Given the description of an element on the screen output the (x, y) to click on. 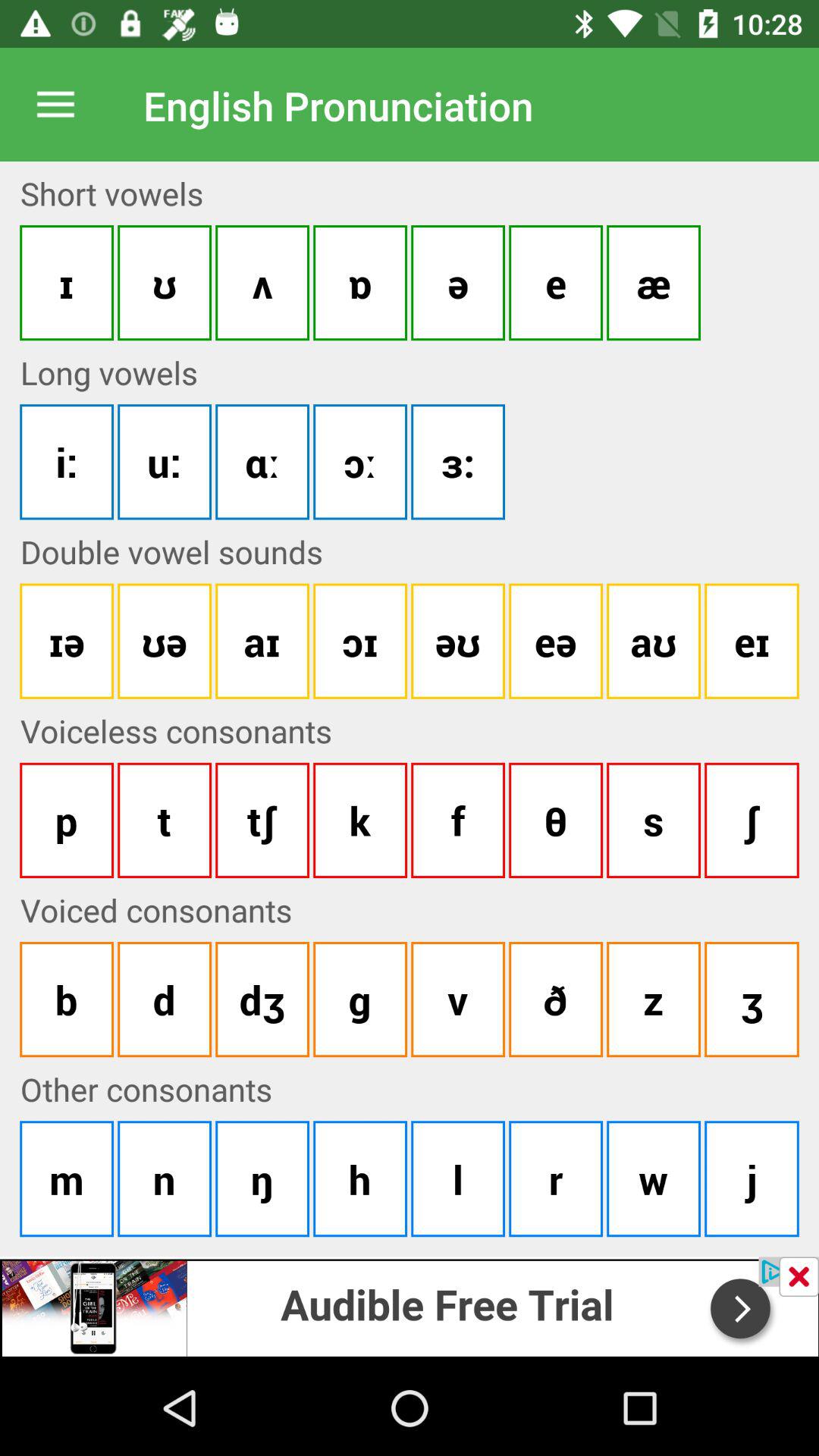
close button (799, 1276)
